Given the description of an element on the screen output the (x, y) to click on. 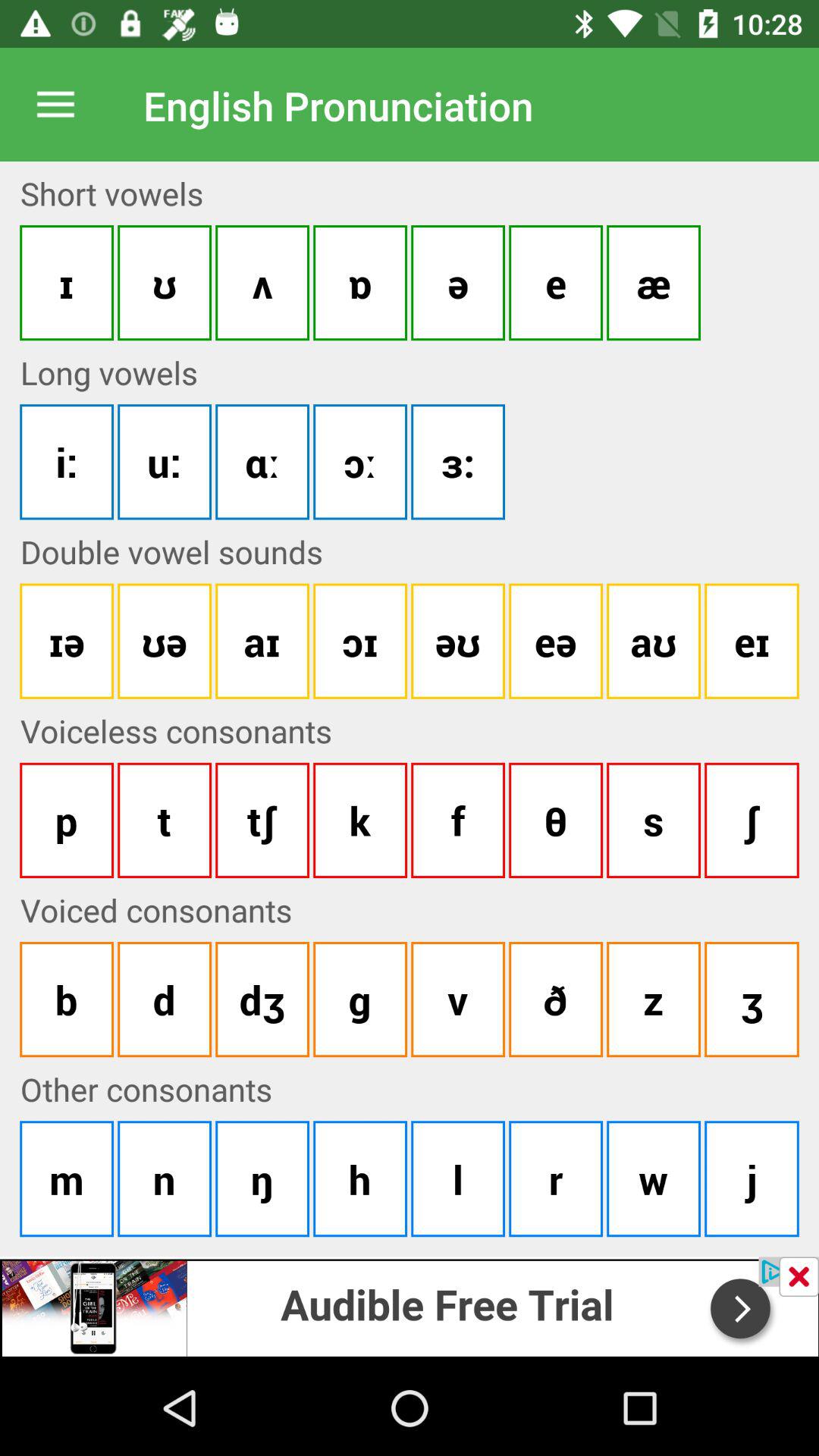
close button (799, 1276)
